Given the description of an element on the screen output the (x, y) to click on. 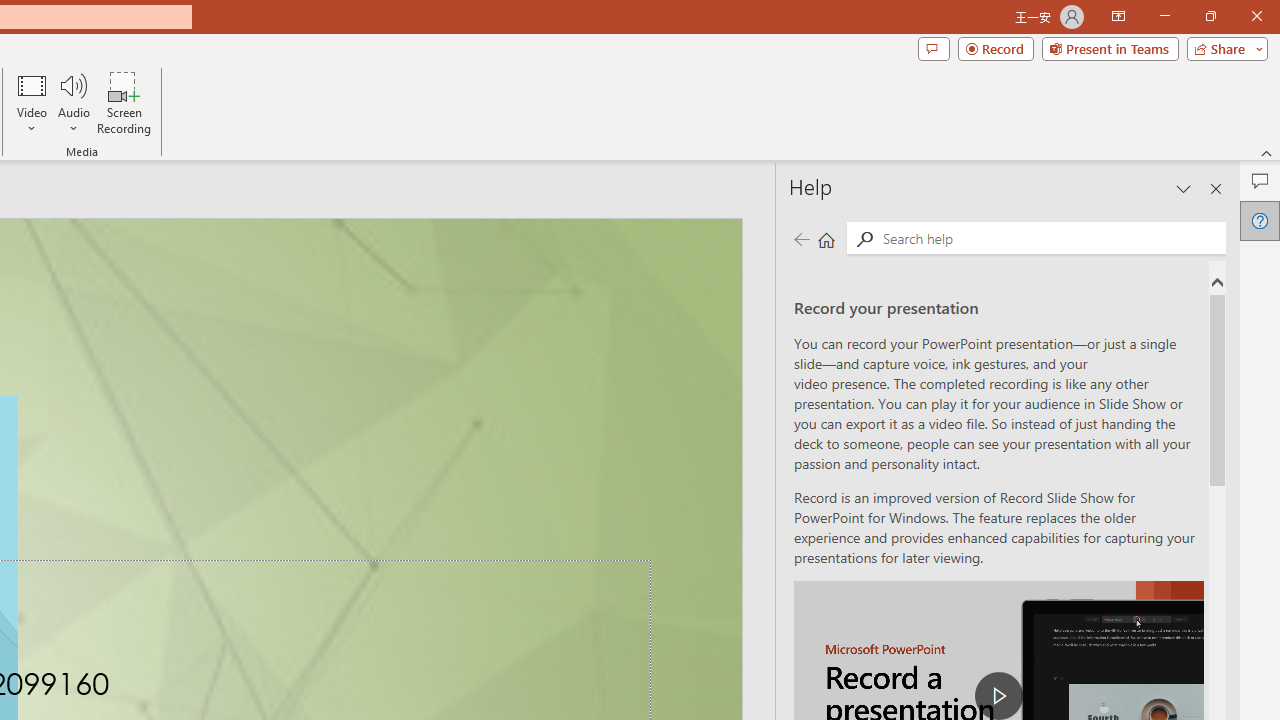
Audio (73, 102)
Screen Recording... (123, 102)
Previous page (801, 238)
Video (31, 102)
